Given the description of an element on the screen output the (x, y) to click on. 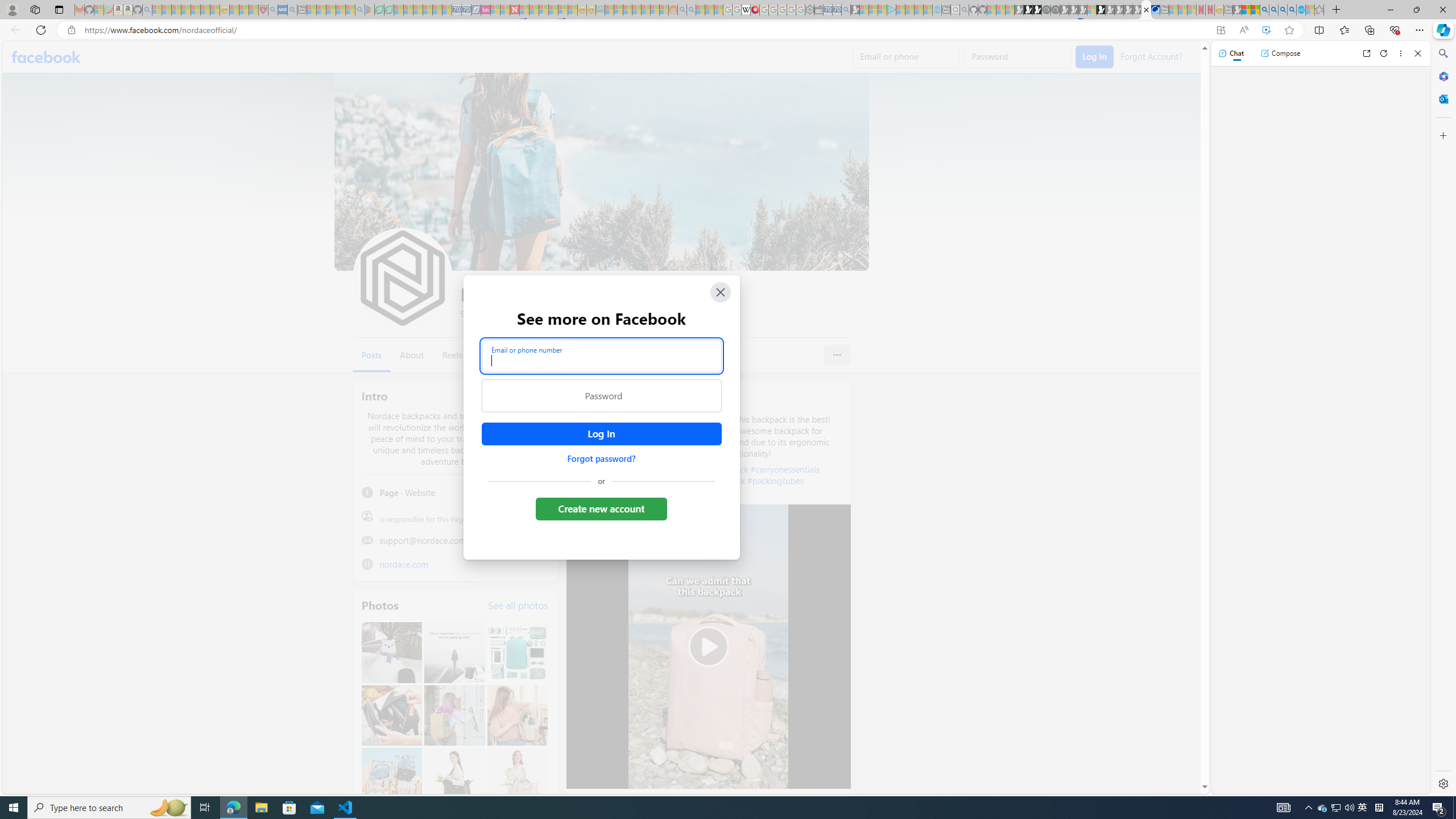
Facebook (46, 56)
Forgot Account? (1150, 55)
Facebook (46, 56)
Bing AI - Search (1264, 9)
